Given the description of an element on the screen output the (x, y) to click on. 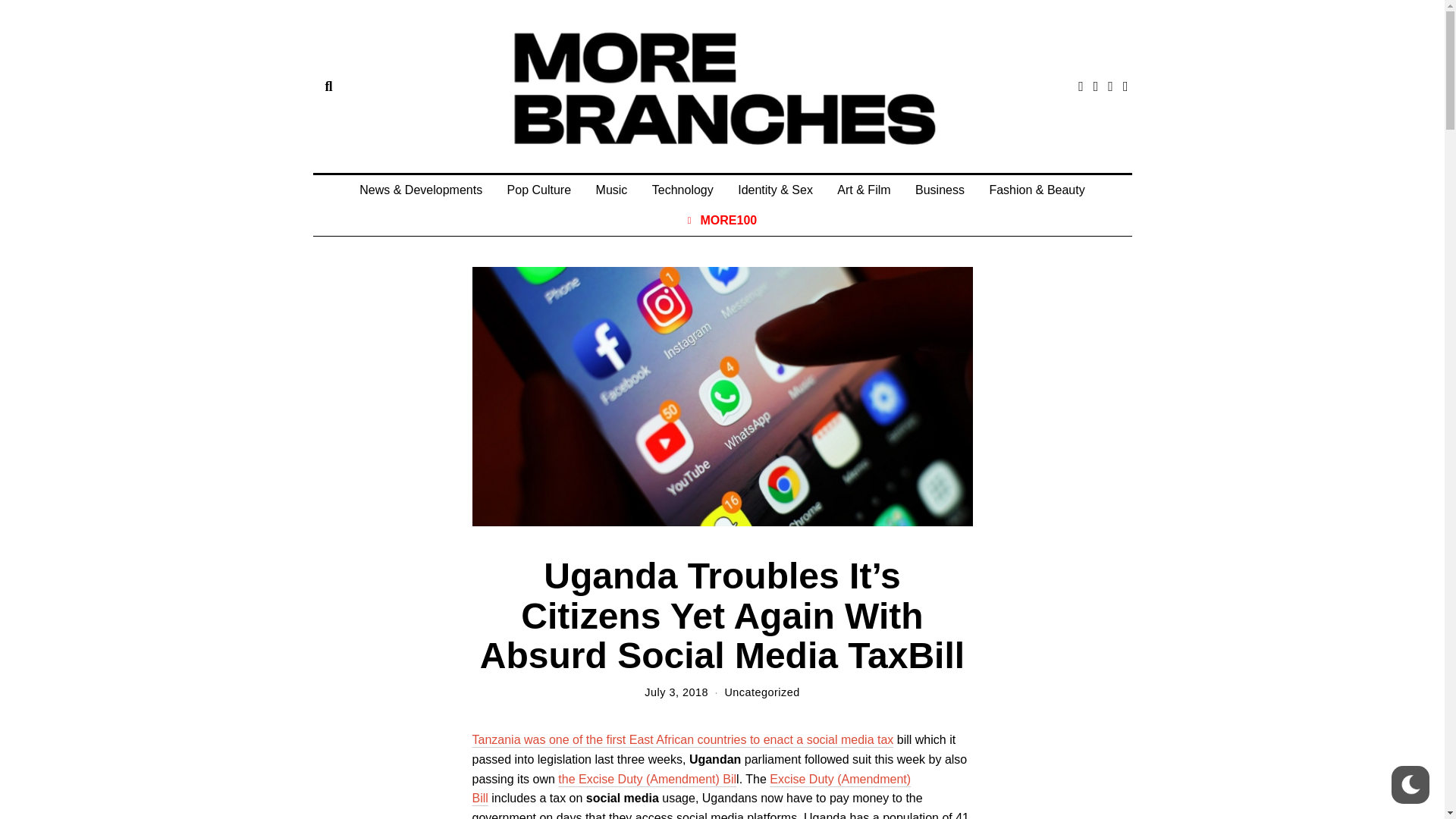
Uncategorized (761, 692)
Pop Culture (539, 190)
Music (612, 190)
Business (939, 190)
Technology (682, 190)
MORE100 (722, 220)
